Given the description of an element on the screen output the (x, y) to click on. 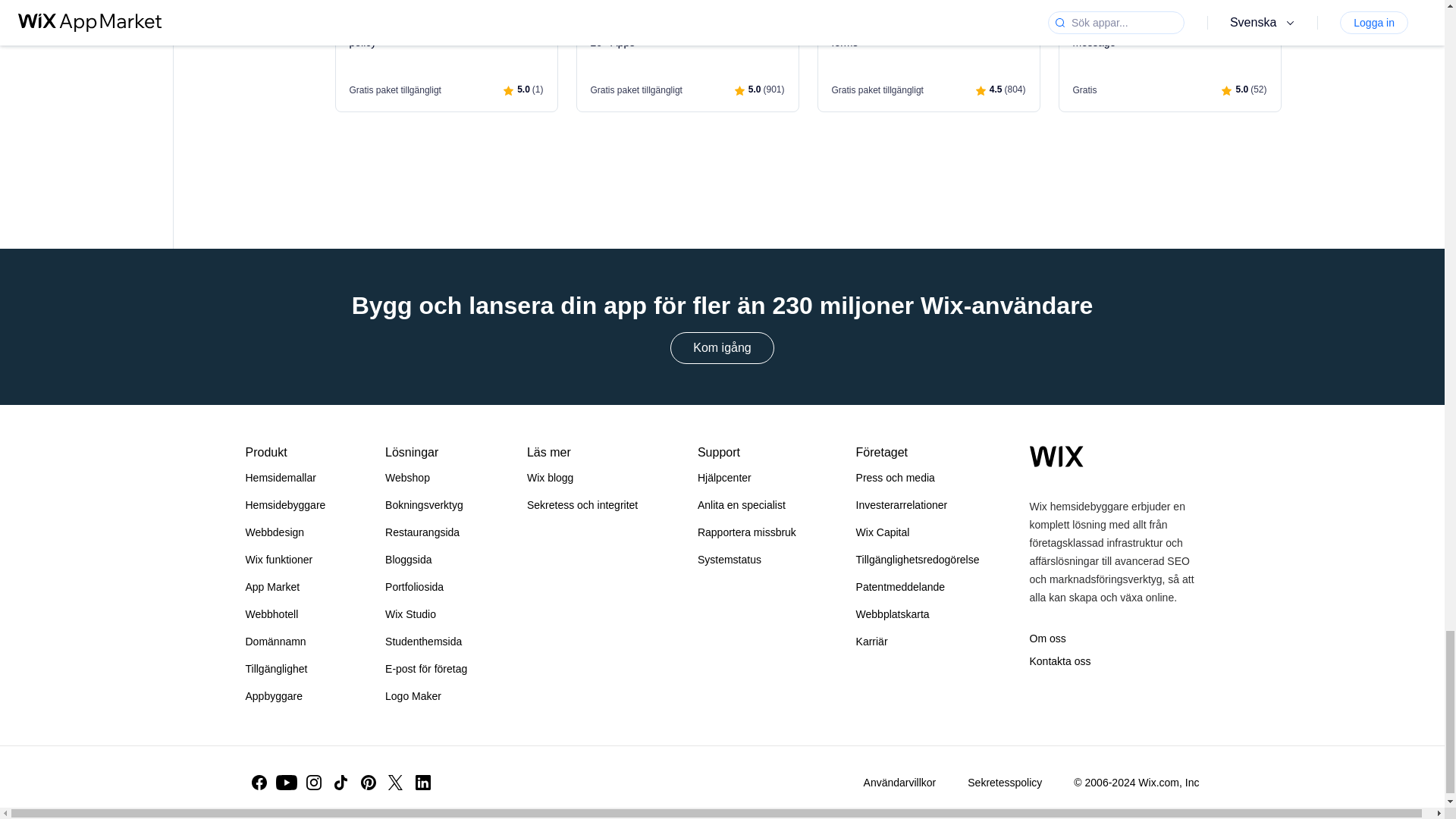
Pinterest (368, 782)
Instagram (313, 782)
Linkedin (422, 782)
Facebook (259, 782)
TikTok (341, 782)
Youtube (286, 782)
Wix.com (1056, 455)
Twitter (395, 782)
